Given the description of an element on the screen output the (x, y) to click on. 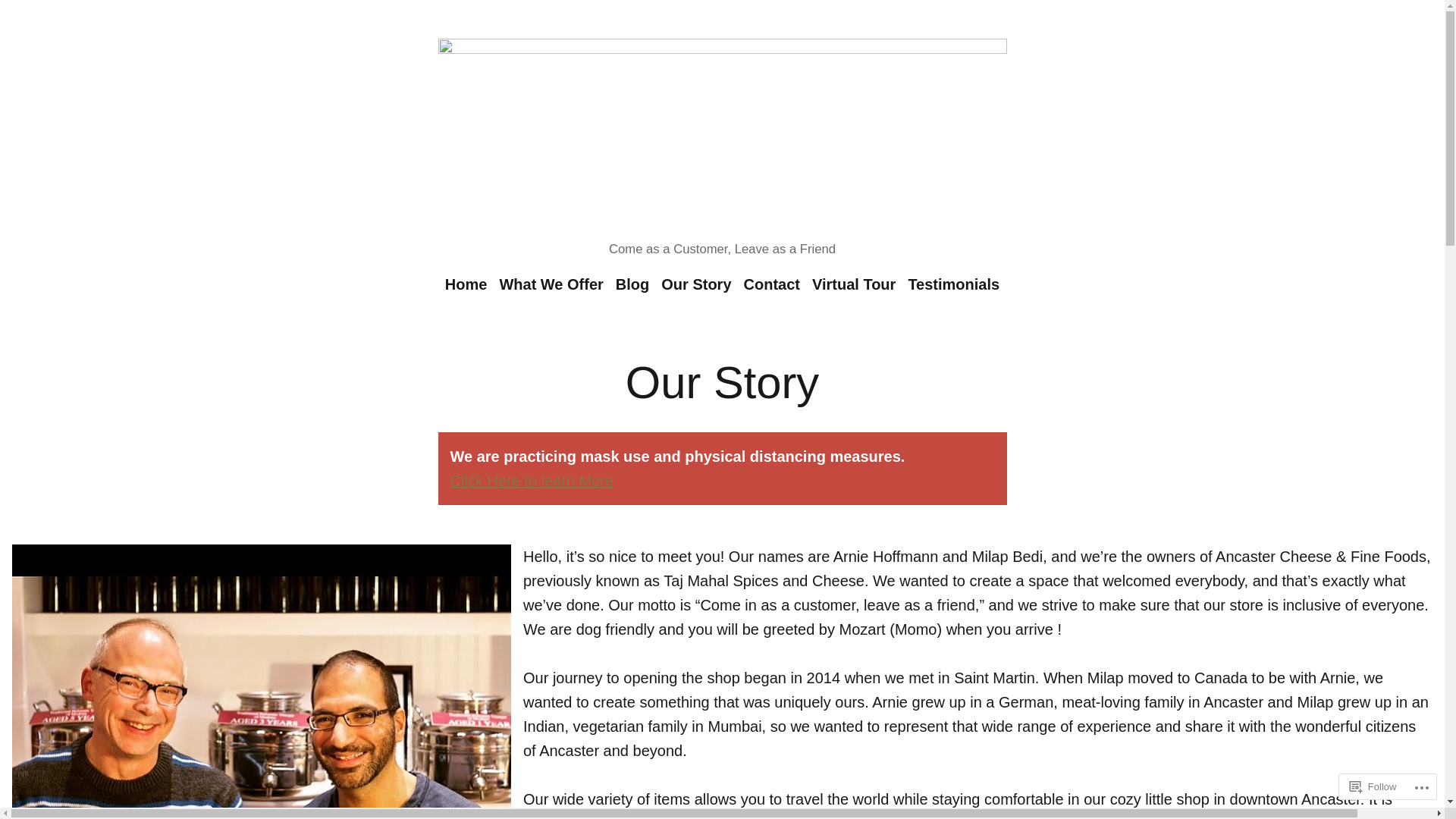
Contact Element type: text (771, 283)
Our Story Element type: text (696, 283)
Home Element type: text (469, 283)
Blog Element type: text (632, 283)
Follow Element type: text (1372, 786)
Virtual Tour Element type: text (853, 283)
Testimonials Element type: text (950, 283)
What We Offer Element type: text (550, 283)
Click Here to learn More Element type: text (532, 480)
